Given the description of an element on the screen output the (x, y) to click on. 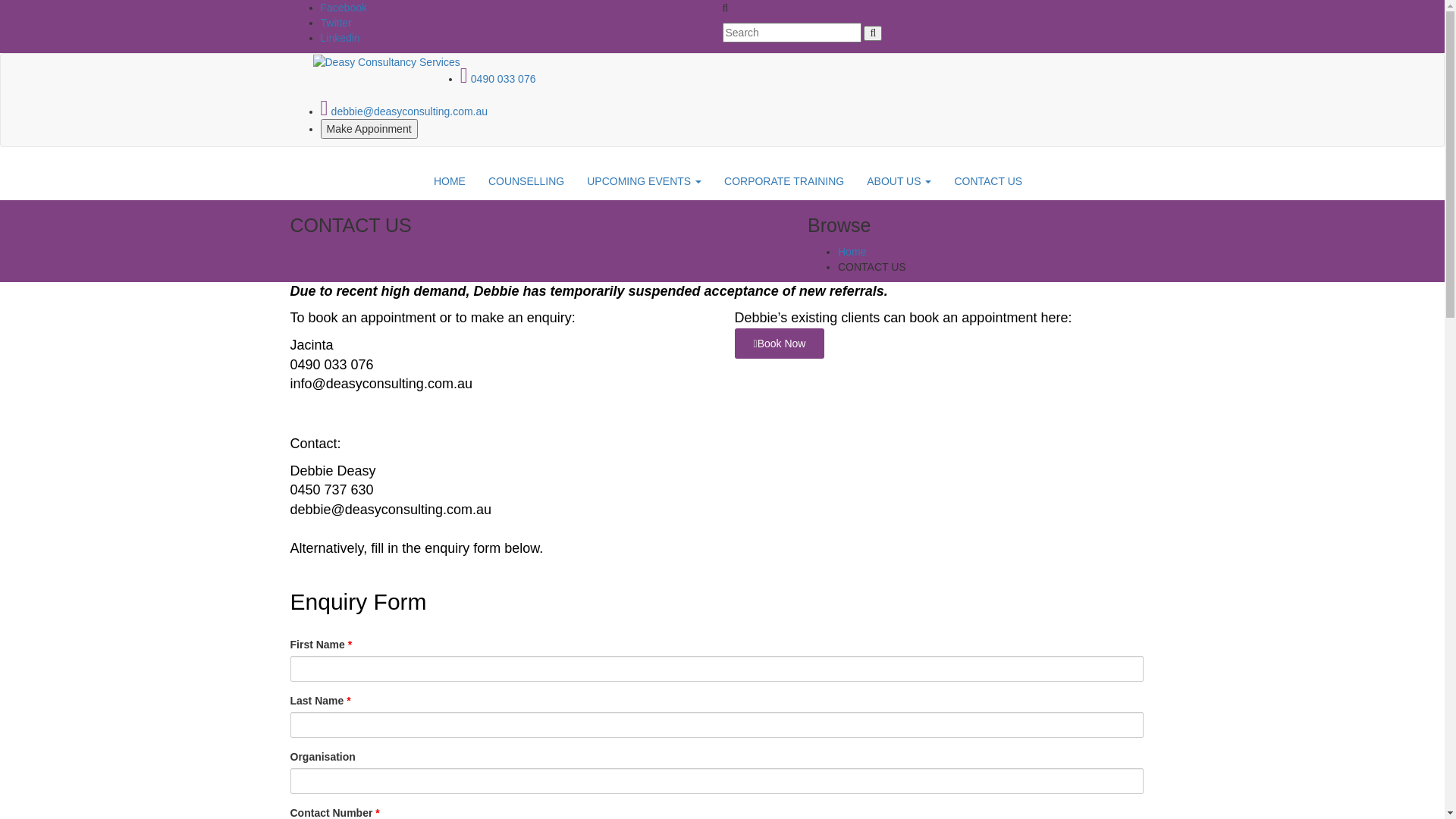
Facebook Element type: text (343, 7)
Make Appoinment Element type: text (368, 128)
Linkedin Element type: text (339, 37)
info@deasyconsulting.com.au Element type: text (380, 383)
Skip to content Element type: text (0, 0)
UPCOMING EVENTS Element type: text (643, 181)
Book Now Element type: text (779, 343)
CONTACT US Element type: text (987, 181)
0450 737 630 Element type: text (331, 489)
HOME Element type: text (449, 181)
0490 033 076 Element type: text (331, 364)
debbie@deasyconsulting.com.au Element type: text (403, 111)
Twitter Element type: text (335, 22)
debbie@deasyconsulting.com.au Element type: text (389, 509)
COUNSELLING Element type: text (525, 181)
ABOUT US Element type: text (898, 181)
Home Element type: text (851, 251)
0490 033 076 Element type: text (498, 78)
CORPORATE TRAINING Element type: text (783, 181)
